Given the description of an element on the screen output the (x, y) to click on. 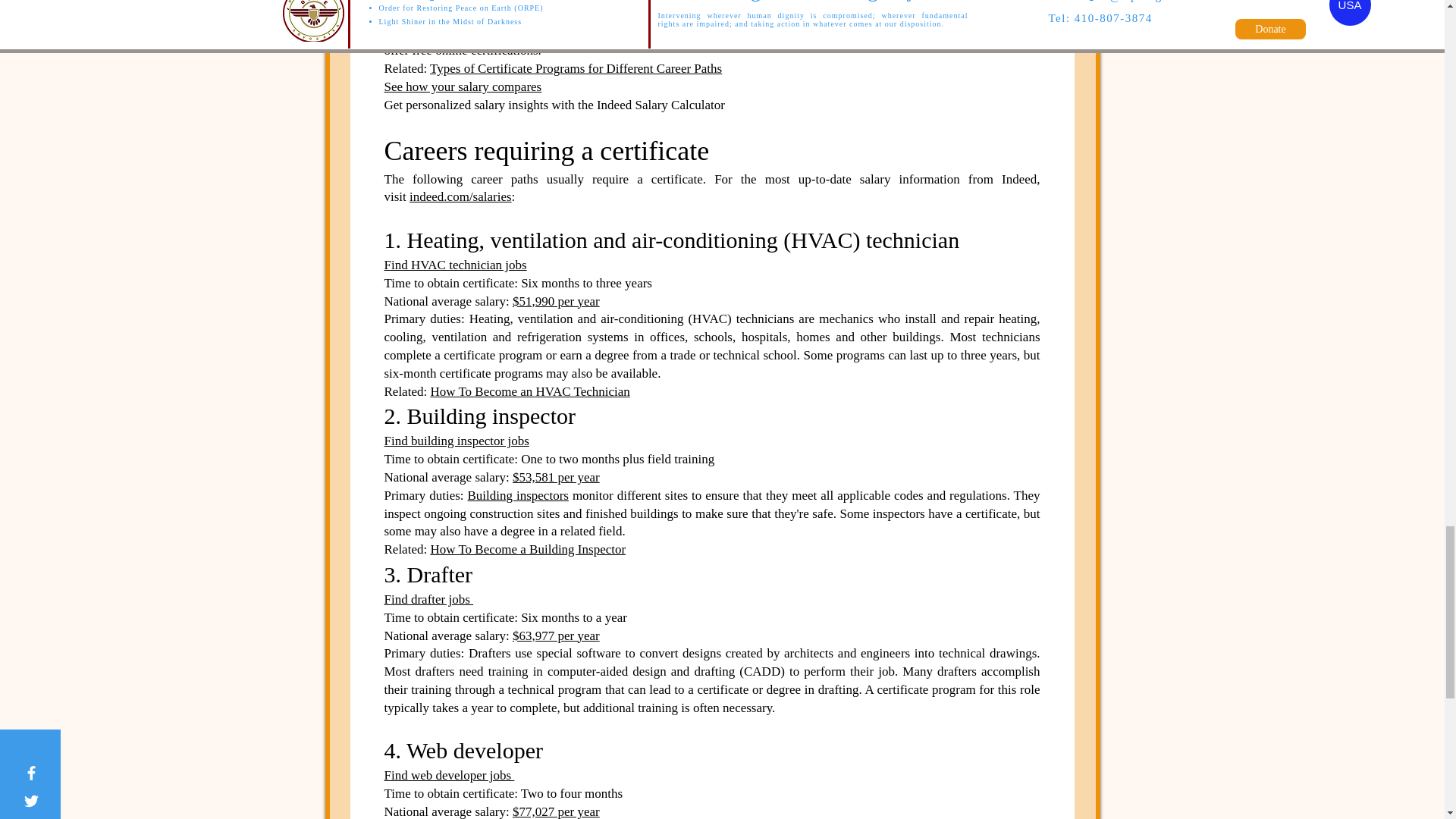
See how your salary compares (462, 86)
How To Become an HVAC Technician (528, 391)
Building inspectors (518, 495)
Find HVAC technician jobs (454, 264)
Find building inspector jobs (456, 440)
Types of Certificate Programs for Different Career Paths (575, 68)
